Given the description of an element on the screen output the (x, y) to click on. 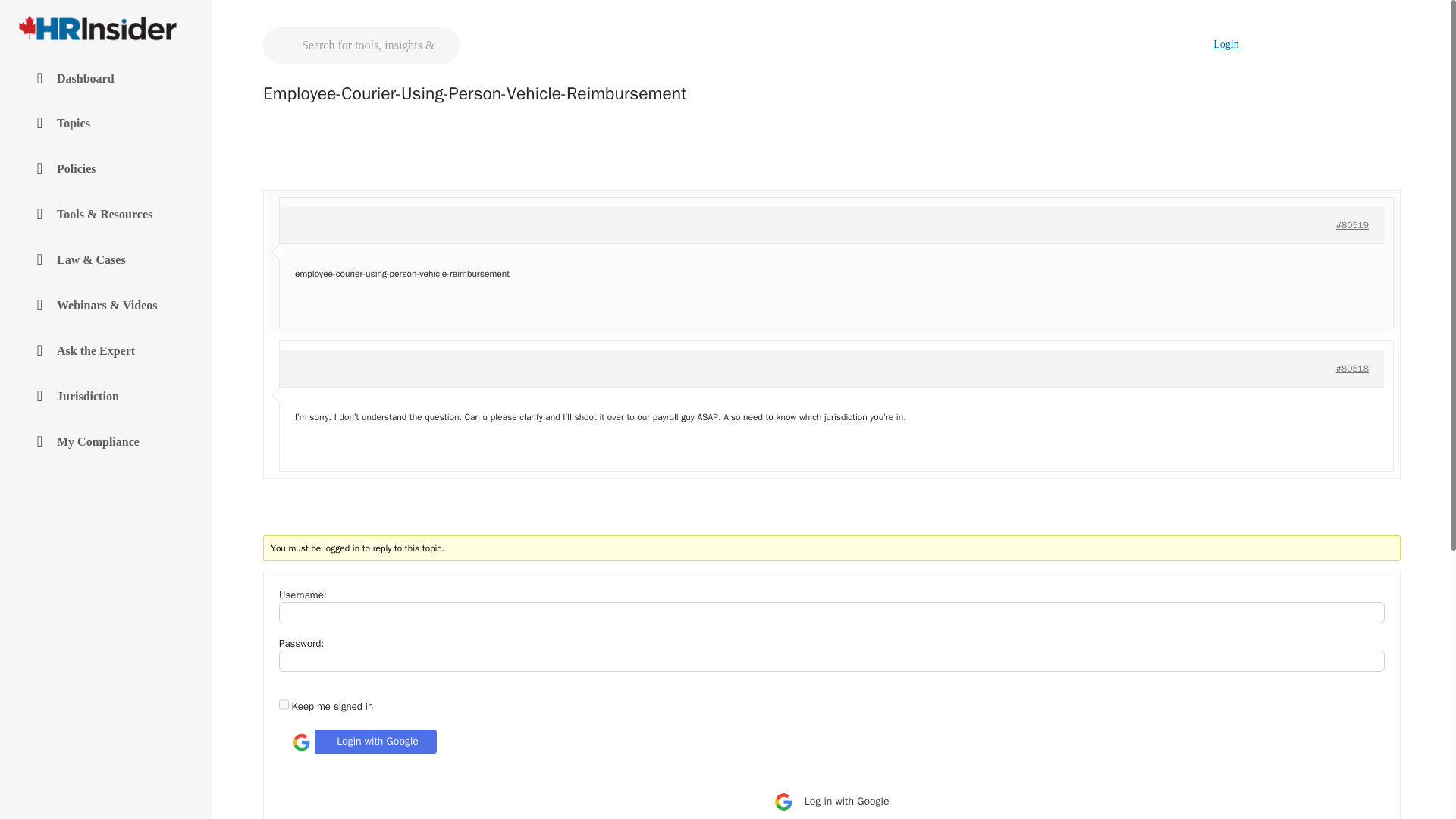
Ask the Expert (106, 351)
Log in with Google (831, 801)
Jurisdiction (106, 397)
My Compliance (106, 442)
Login (1225, 43)
Policies (106, 169)
Topics (106, 123)
Dashboard (106, 78)
Login with Google (360, 741)
